Given the description of an element on the screen output the (x, y) to click on. 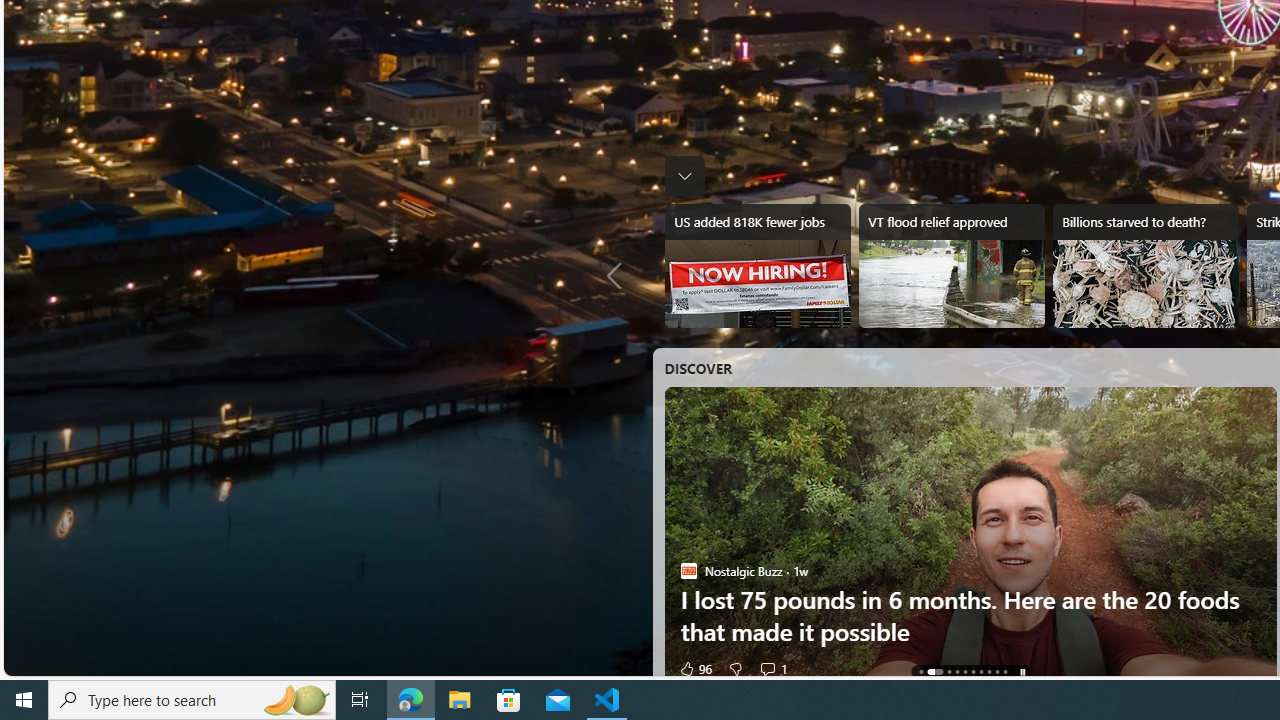
96 Like (694, 668)
AutomationID: tab-8 (996, 671)
VT flood relief approved (950, 265)
Previous news (619, 275)
US added 818K fewer jobs (757, 265)
AutomationID: tab-0 (920, 671)
AutomationID: tab-9 (1004, 671)
AutomationID: tab-4 (964, 671)
AutomationID: tab-6 (980, 671)
